Given the description of an element on the screen output the (x, y) to click on. 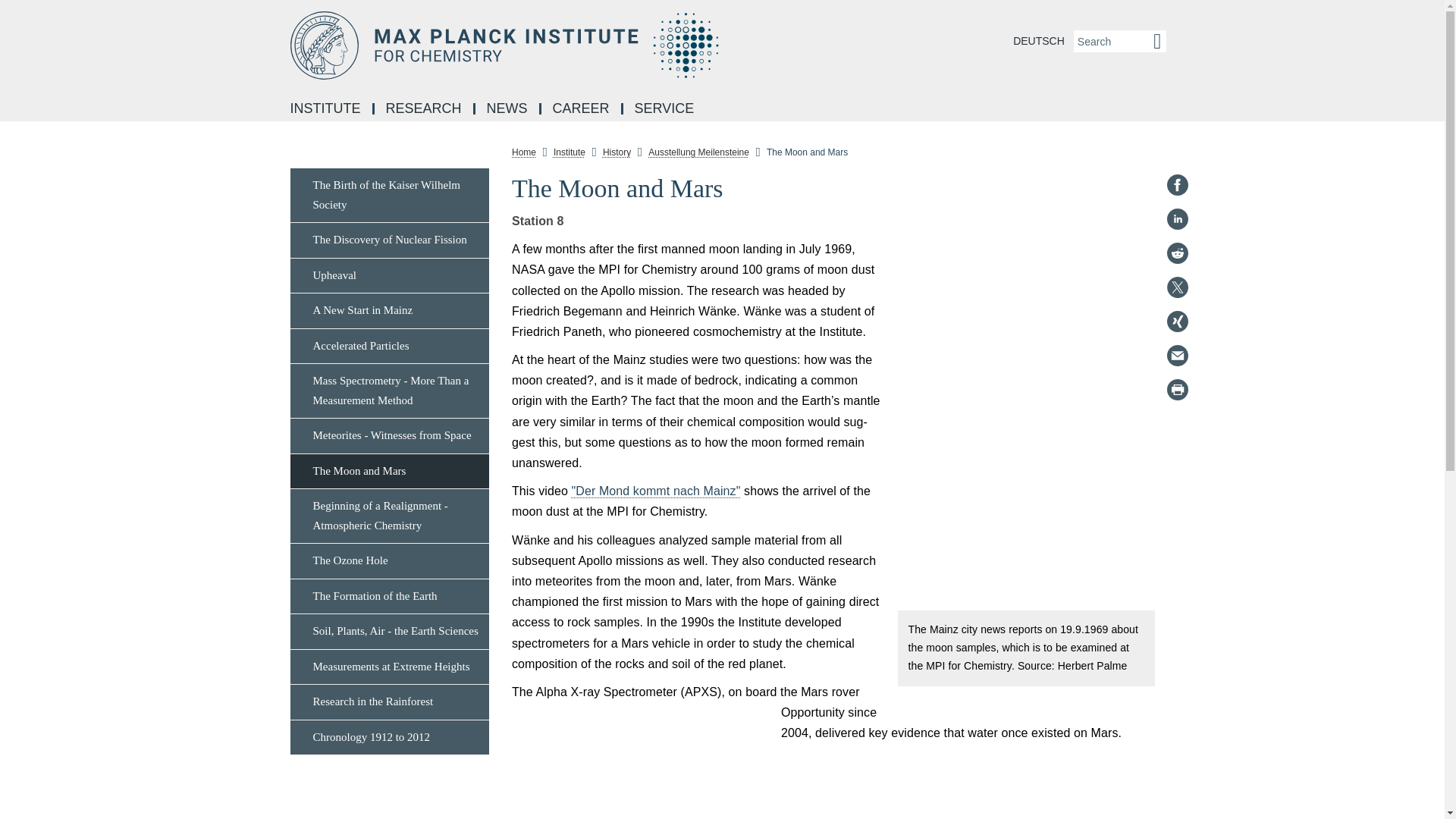
opens zoom view (640, 761)
RESEARCH (425, 108)
Print (1177, 389)
Twitter (1177, 287)
Xing (1177, 321)
Mars-Rover. Source: Daniel Maas (640, 761)
INSTITUTE (326, 108)
E-Mail (1177, 354)
Facebook (1177, 184)
Reddit (1177, 252)
DEUTSCH (1038, 41)
LinkedIn (1177, 219)
